Given the description of an element on the screen output the (x, y) to click on. 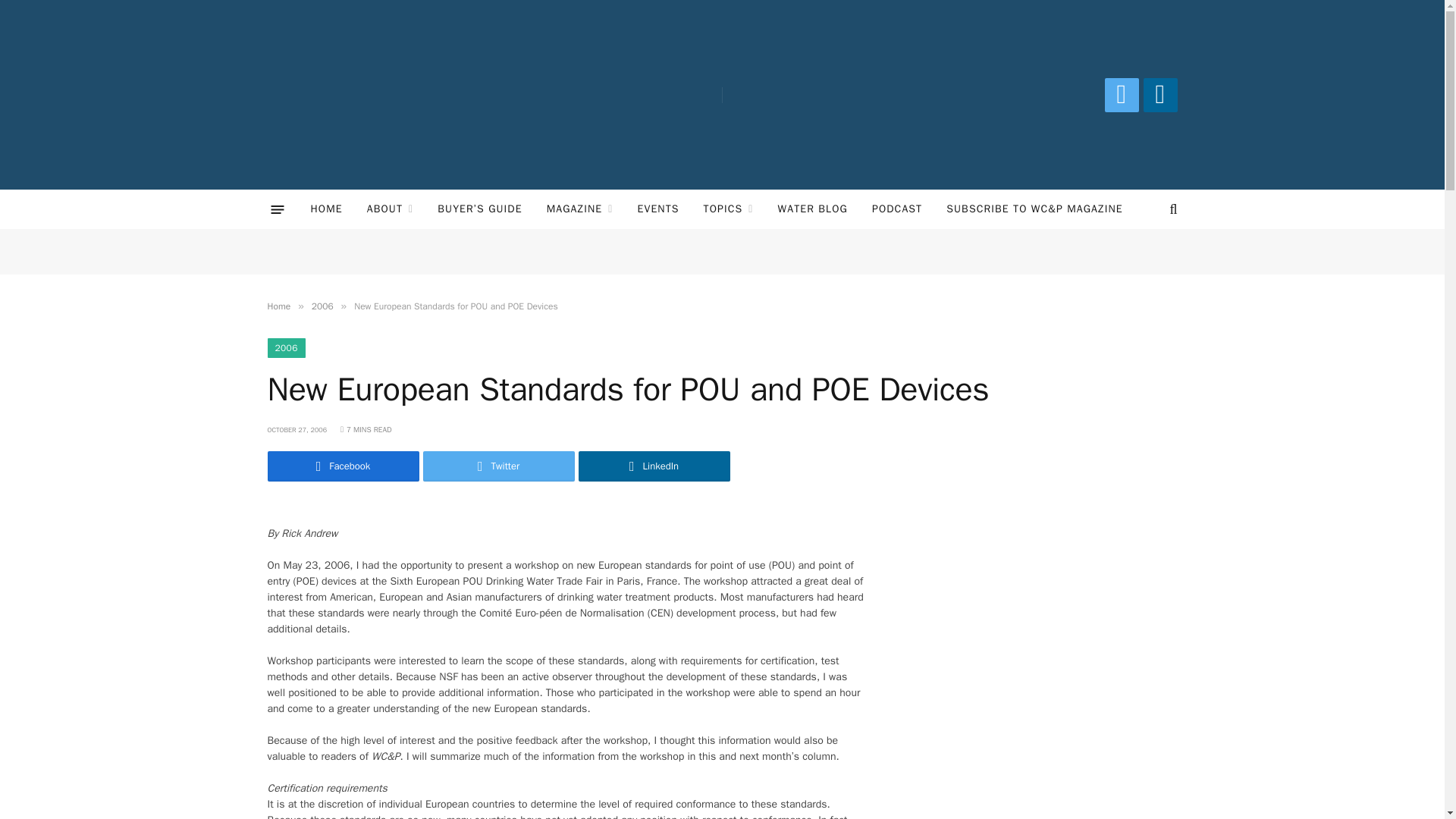
LinkedIn (1159, 93)
Share on LinkedIn (653, 466)
Twitter (1120, 93)
MAGAZINE (580, 209)
Share on Twitter (499, 466)
EVENTS (657, 209)
PODCAST (897, 209)
WATER BLOG (812, 209)
ABOUT (390, 209)
Share on Twitter (342, 466)
